Given the description of an element on the screen output the (x, y) to click on. 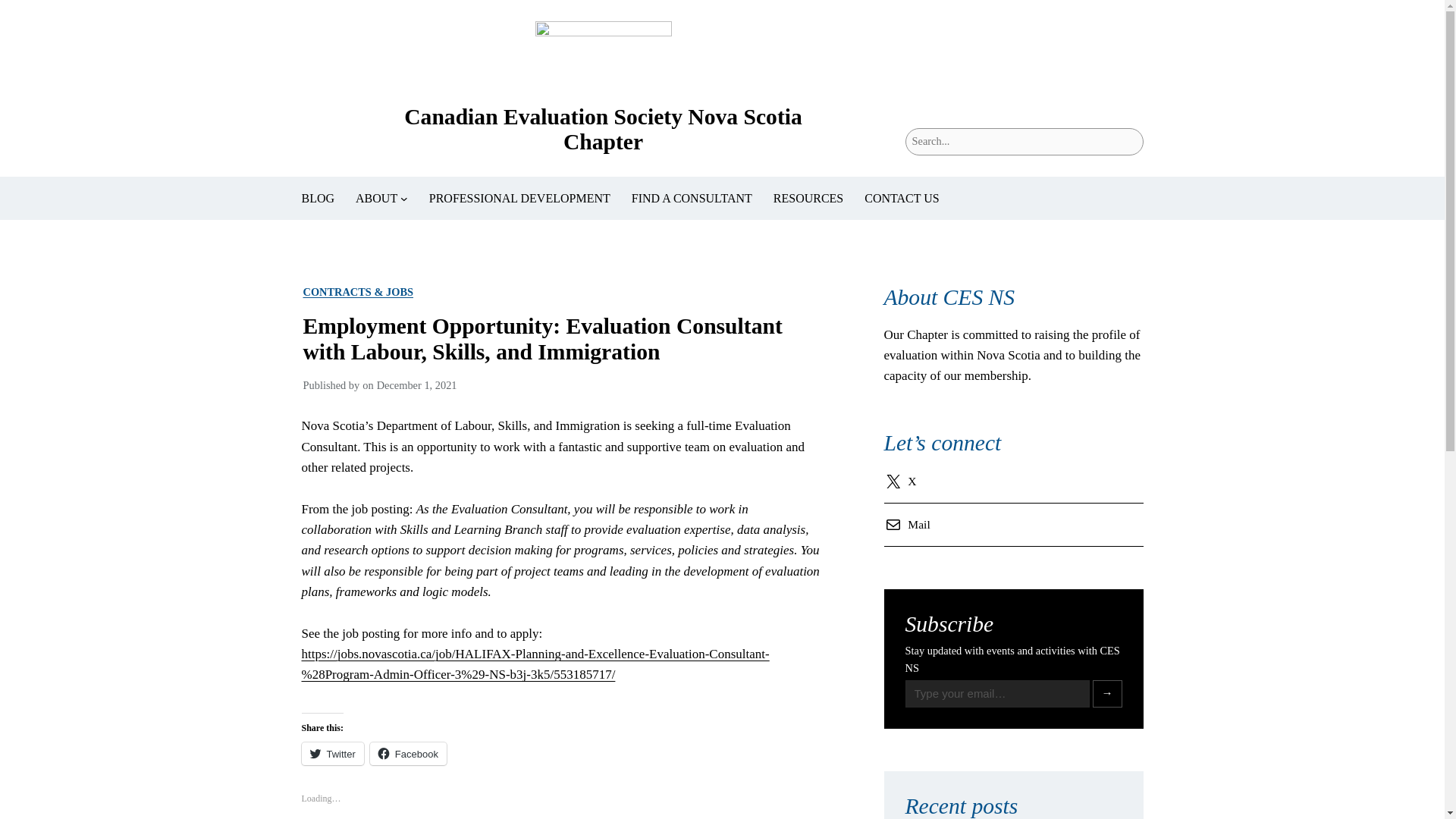
Canadian Evaluation Society Nova Scotia Chapter (603, 128)
Facebook (407, 753)
December 1, 2021 (417, 385)
PROFESSIONAL DEVELOPMENT (519, 198)
Twitter (332, 753)
FIND A CONSULTANT (691, 198)
CONTACT US (901, 198)
RESOURCES (808, 198)
X (903, 481)
Mail (909, 524)
